Given the description of an element on the screen output the (x, y) to click on. 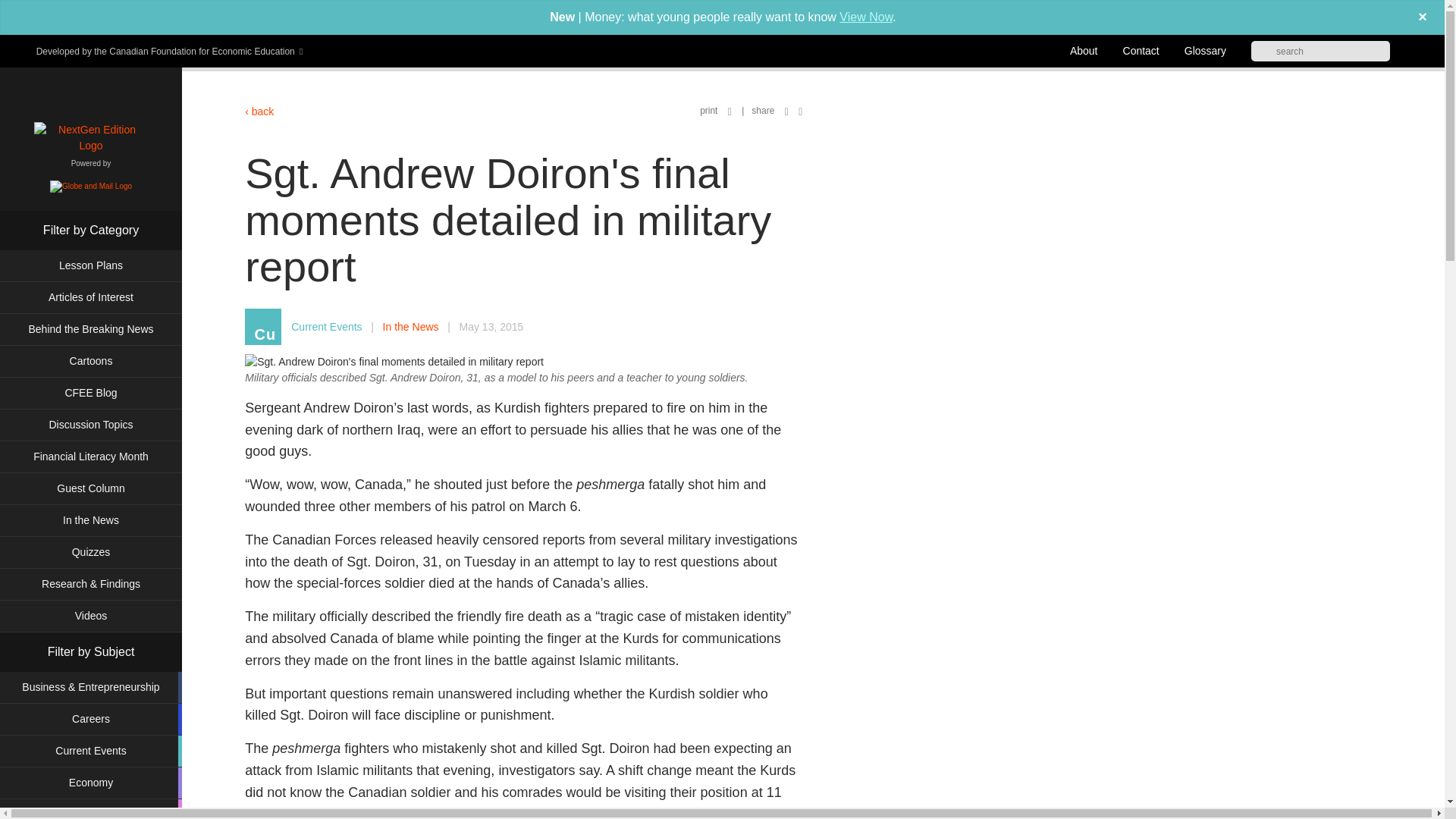
Contact (1140, 50)
Quizzes (91, 552)
Education (91, 809)
Current Events (91, 750)
Guest Column (91, 488)
Careers (91, 718)
Glossary (1205, 50)
Discussion Topics (91, 424)
Videos (91, 615)
CFEE Blog (91, 392)
